Given the description of an element on the screen output the (x, y) to click on. 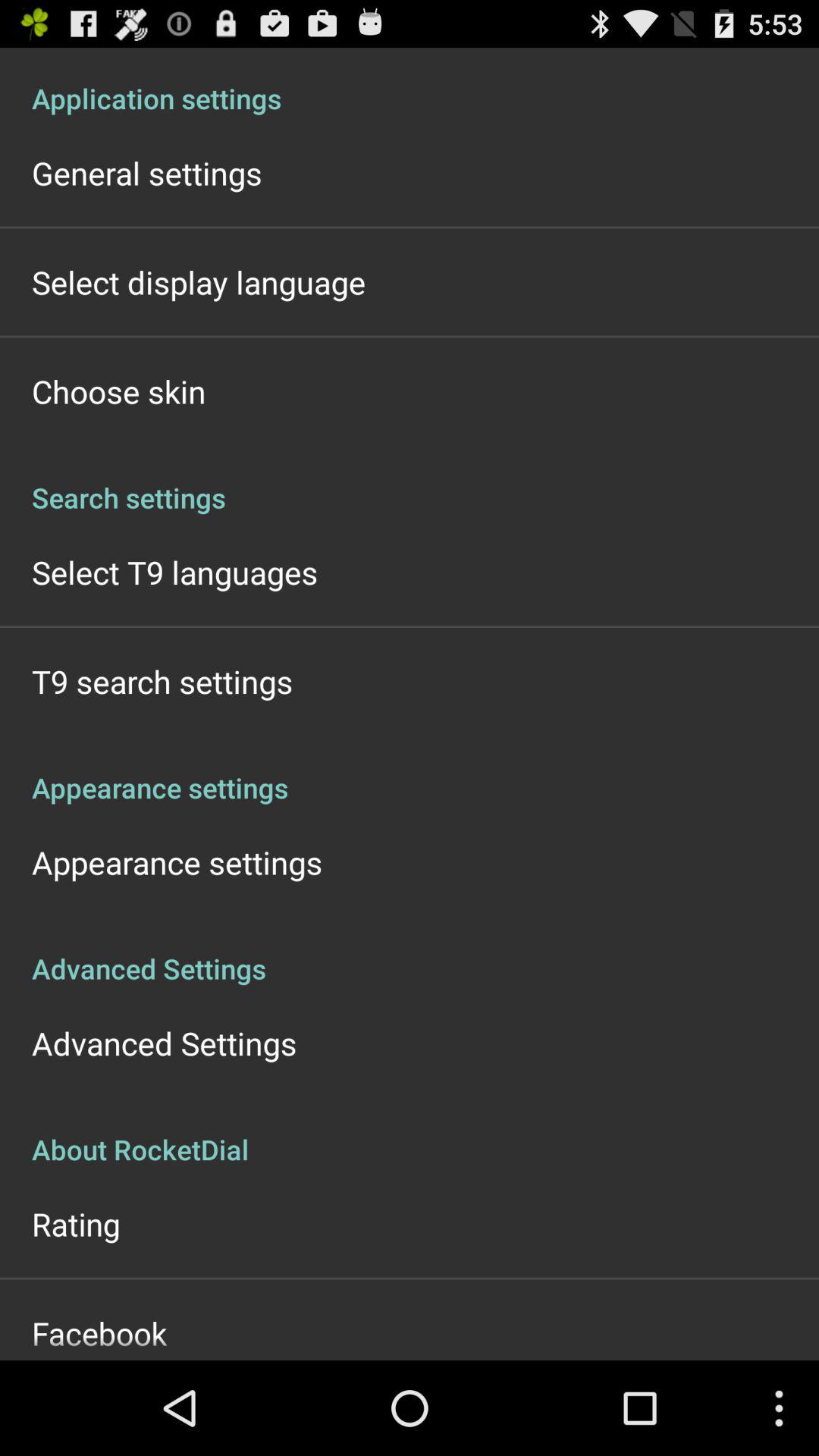
open the about rocketdial app (409, 1133)
